Given the description of an element on the screen output the (x, y) to click on. 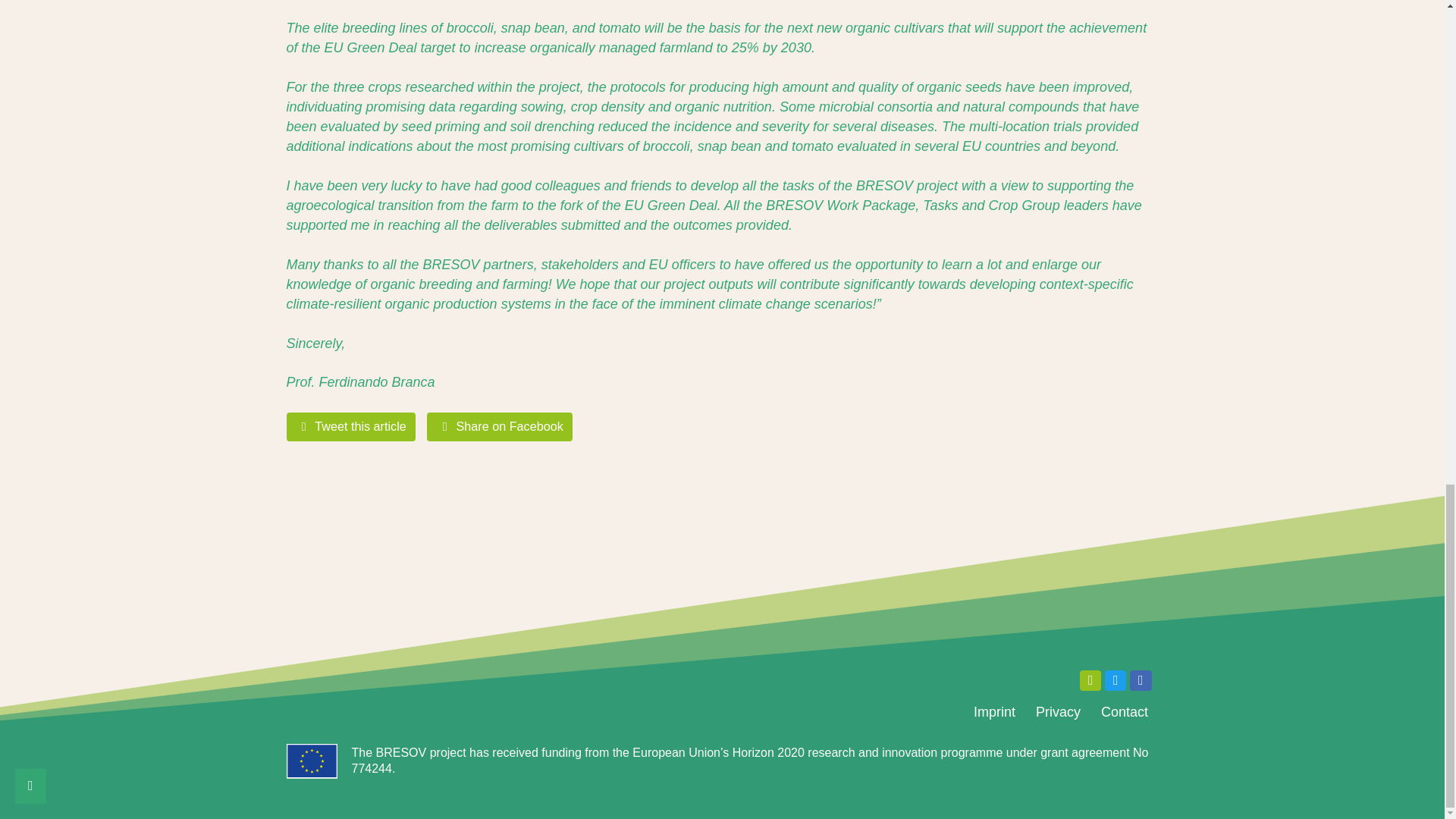
Share on Facebook (499, 426)
Imprint (993, 712)
Tweet this article (351, 426)
Share on Facebook (499, 426)
Contact (1123, 712)
Privacy (1057, 712)
Tweet this article (351, 426)
